Given the description of an element on the screen output the (x, y) to click on. 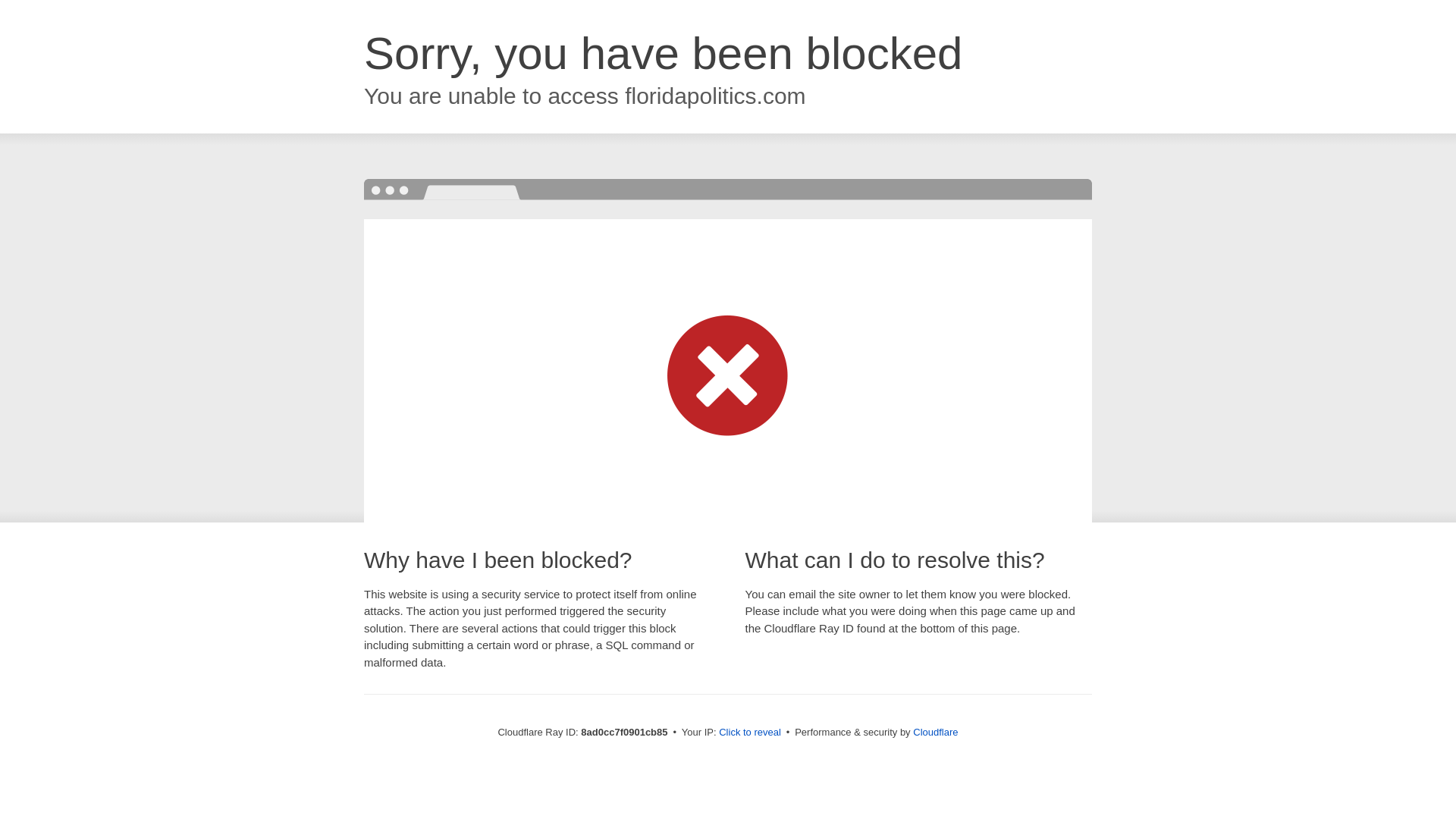
Click to reveal (749, 732)
Cloudflare (935, 731)
